Given the description of an element on the screen output the (x, y) to click on. 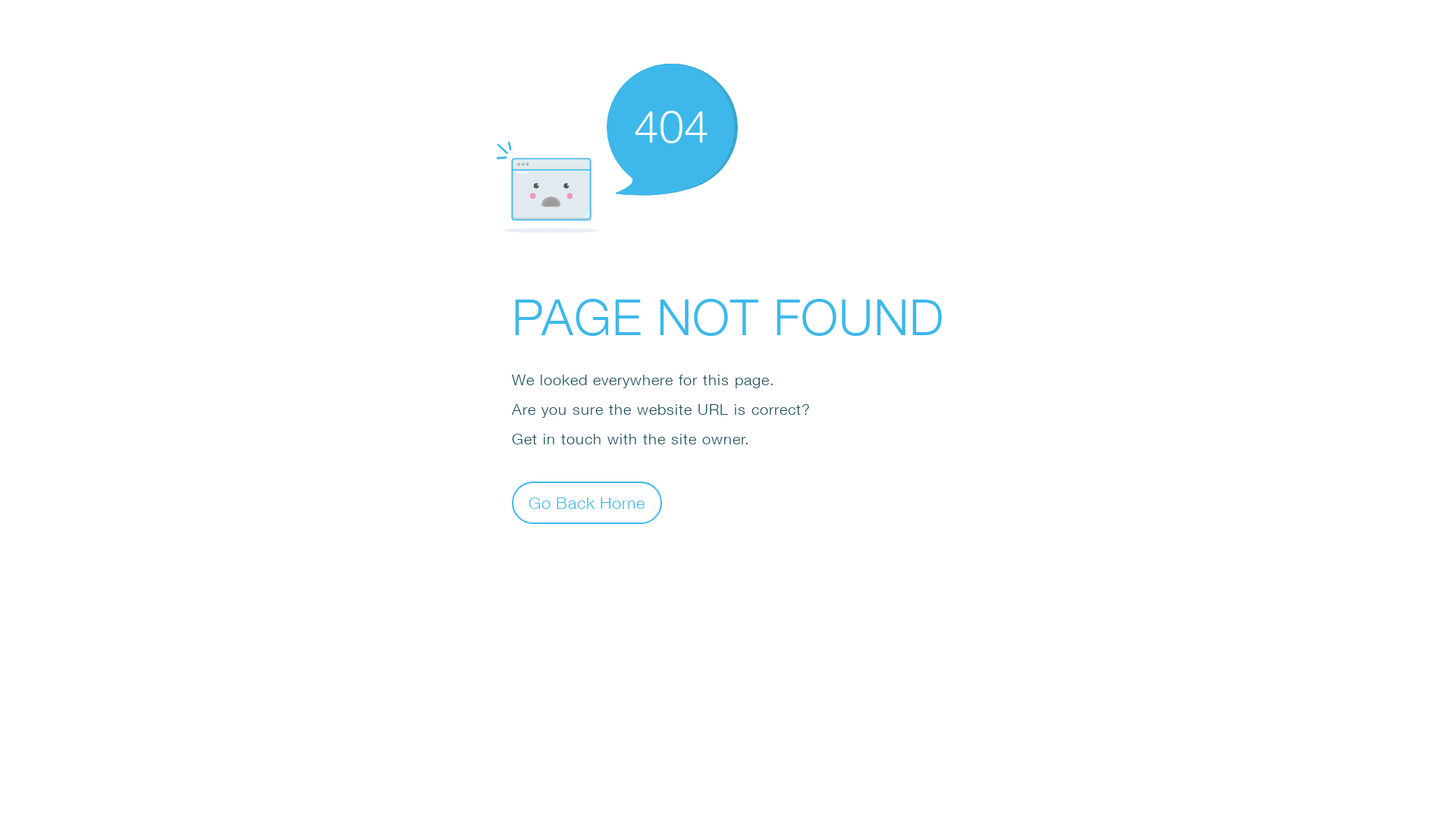
Go Back Home Element type: text (586, 502)
